Given the description of an element on the screen output the (x, y) to click on. 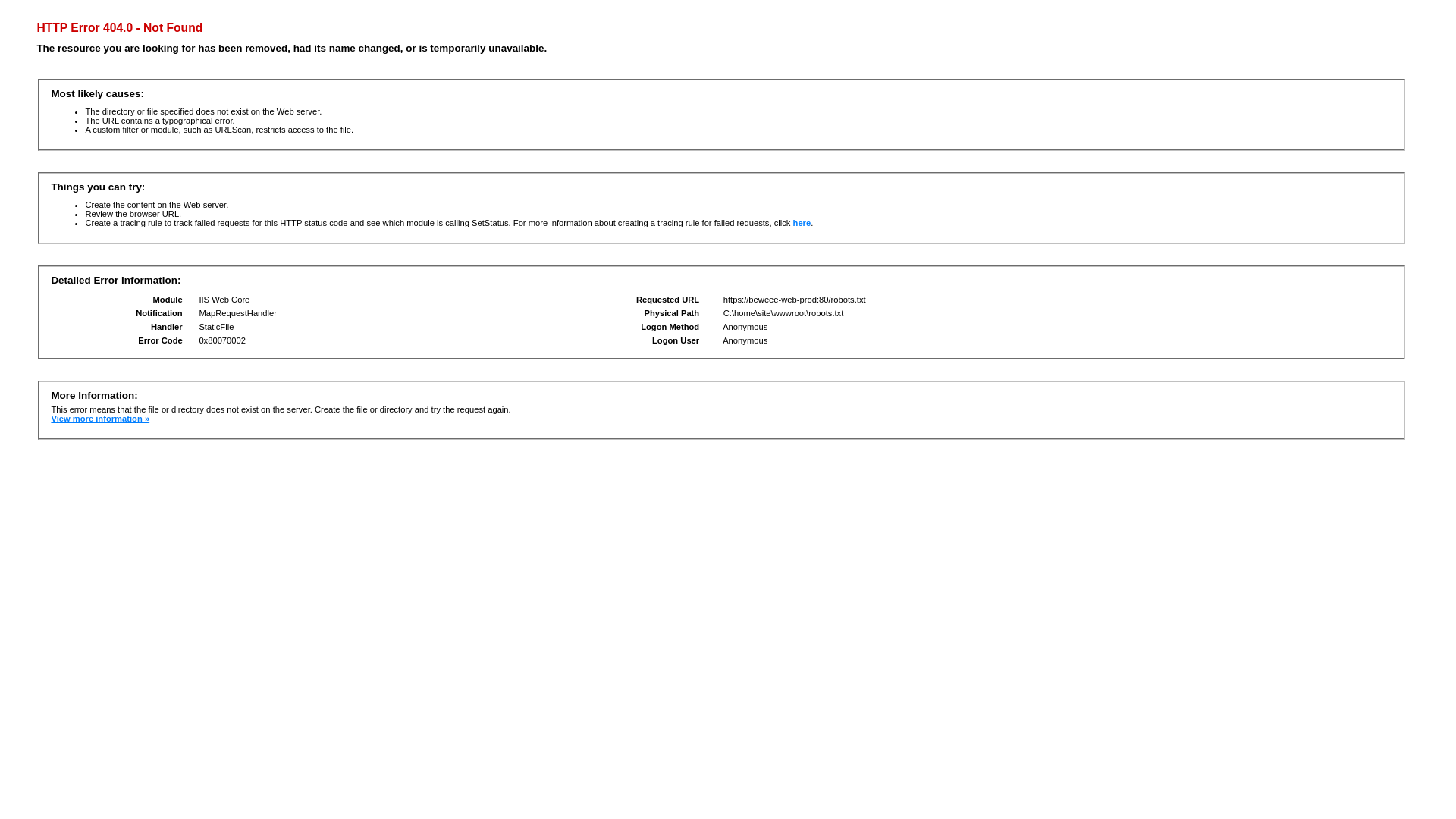
here Element type: text (802, 222)
